Given the description of an element on the screen output the (x, y) to click on. 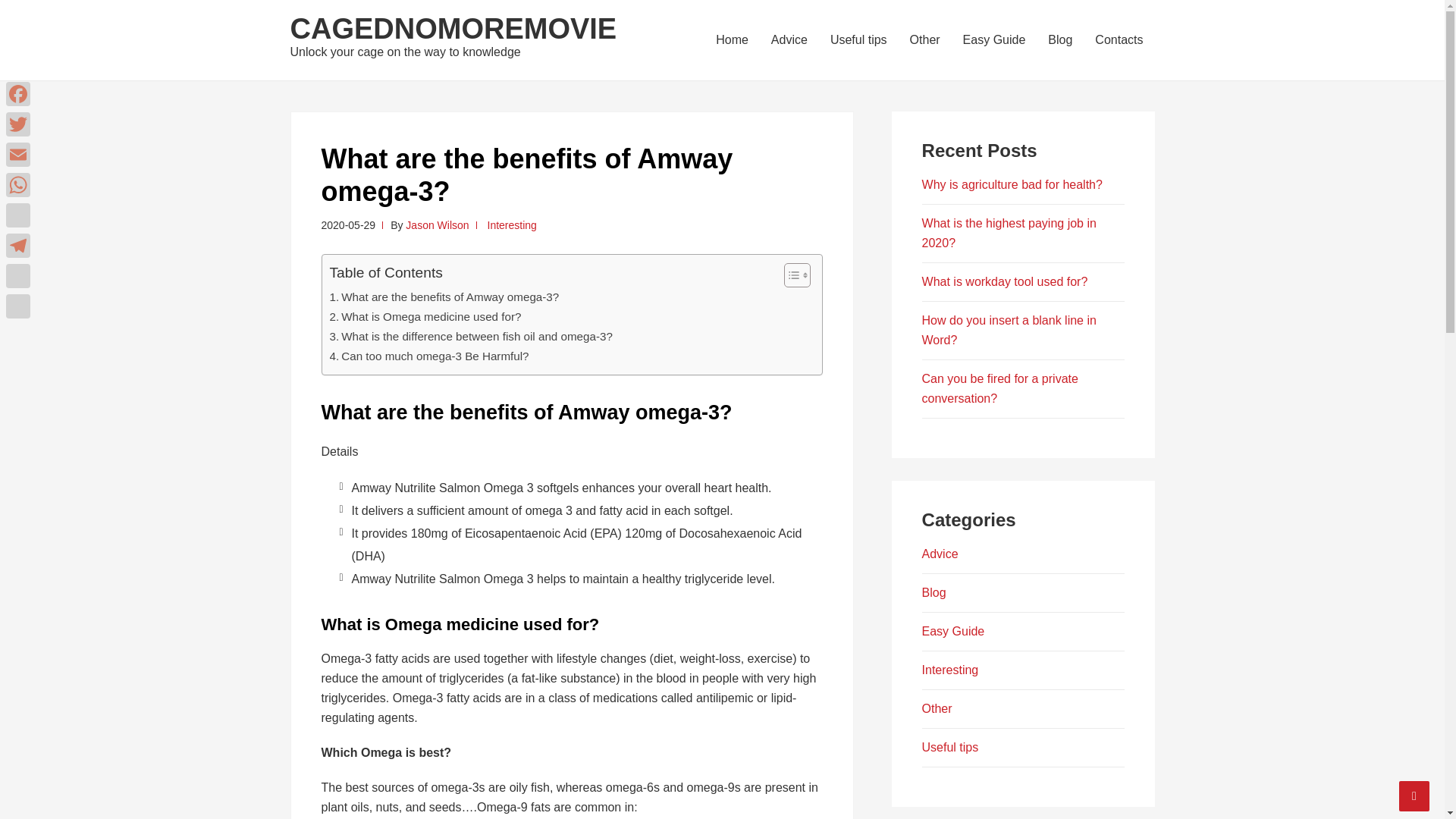
Facebook (17, 93)
View all posts by Jason Wilson (437, 224)
Twitter (17, 123)
What are the benefits of Amway omega-3? (444, 297)
What is workday tool used for? (1004, 281)
Can too much omega-3 Be Harmful? (428, 356)
Other (925, 39)
What is Omega medicine used for? (425, 316)
What are the benefits of Amway omega-3? (444, 297)
What is the difference between fish oil and omega-3? (470, 336)
